Given the description of an element on the screen output the (x, y) to click on. 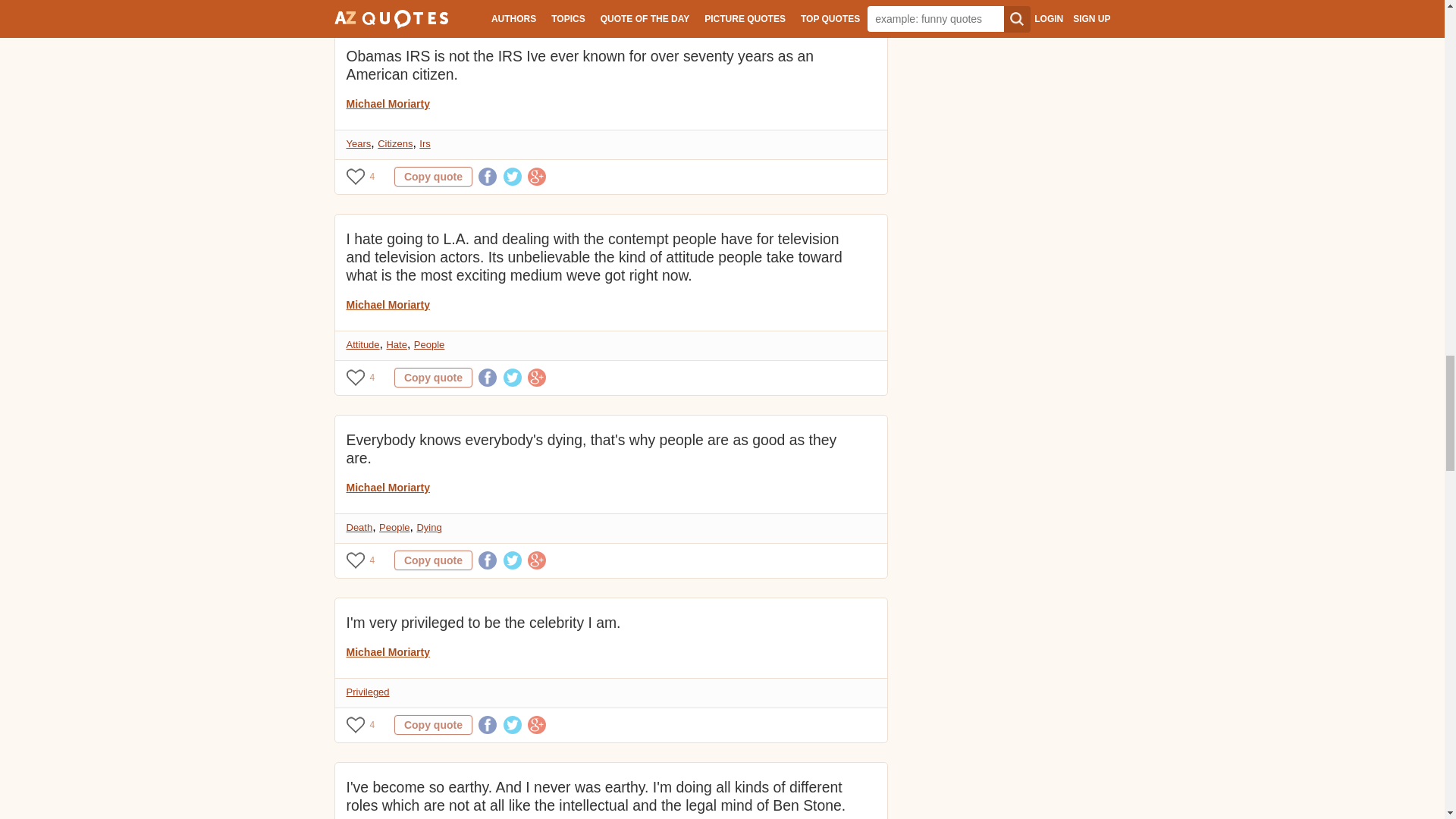
Quote is copied (432, 176)
Quote is copied (432, 377)
Quote is copied (432, 560)
Quote is copied (432, 724)
Quote is copied (432, 2)
